Given the description of an element on the screen output the (x, y) to click on. 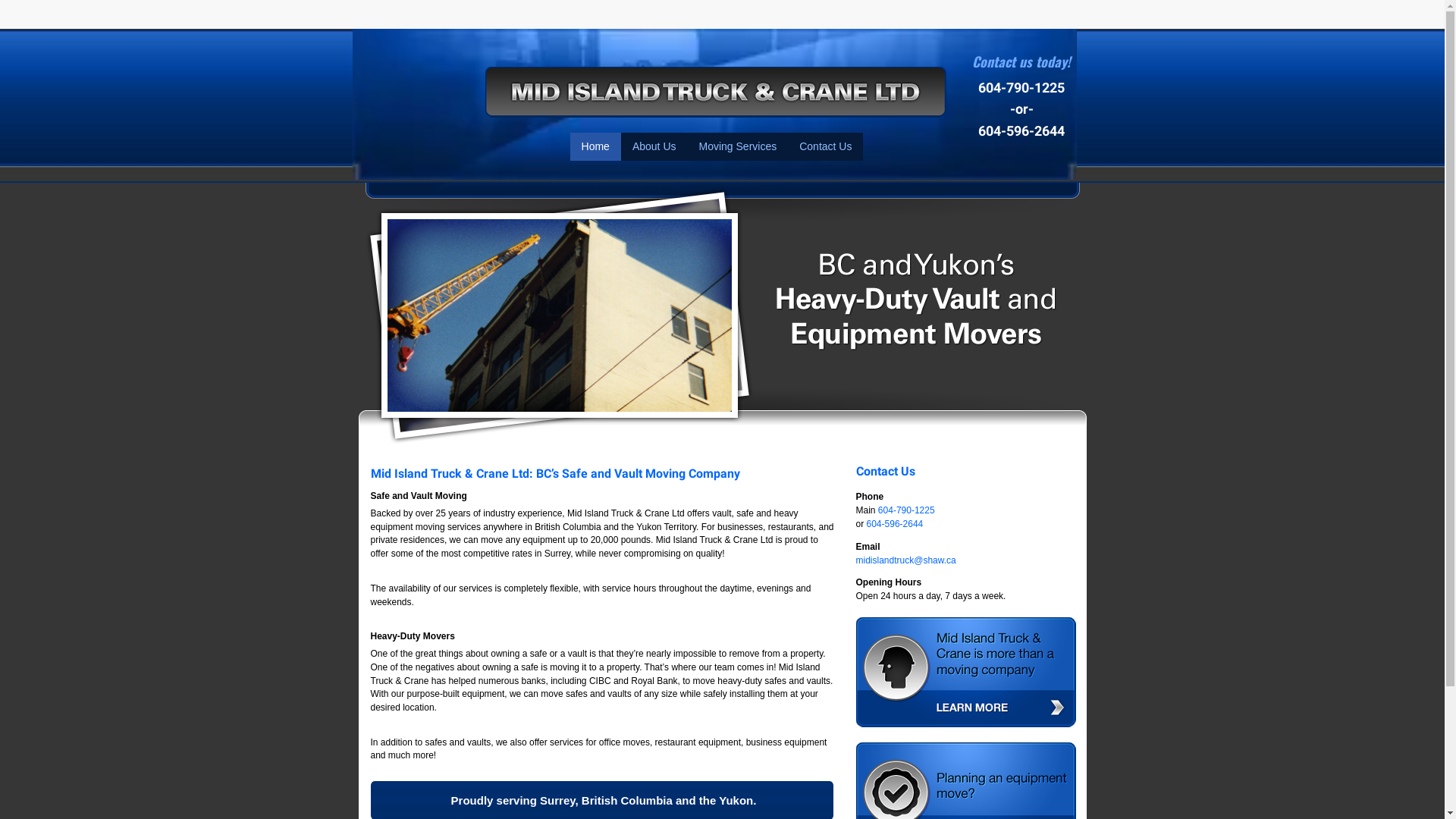
604-596-2644 Element type: text (894, 523)
604-790-1225 Element type: text (906, 510)
About Us Element type: text (654, 146)
604-790-1225 Element type: text (1021, 87)
Contact Us Element type: text (824, 146)
Home Element type: text (595, 146)
Moving Services Element type: text (737, 146)
midislandtruck@shaw.ca Element type: text (905, 560)
604-596-2644 Element type: text (1021, 130)
